Given the description of an element on the screen output the (x, y) to click on. 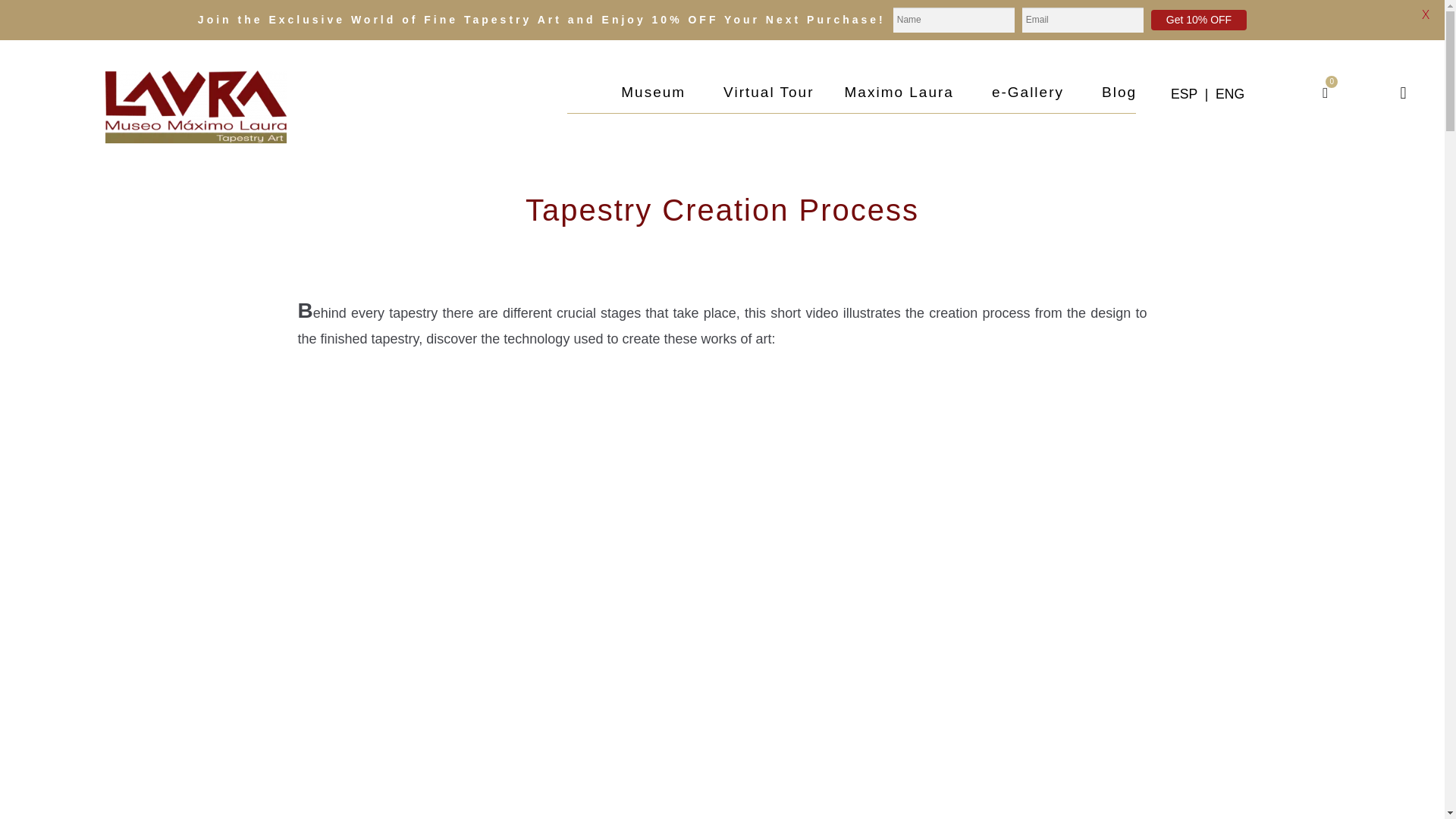
0 (1324, 92)
Virtual Tour (767, 92)
ENG (1229, 93)
Museum (656, 92)
ESP (1183, 93)
Maximo Laura (902, 92)
Blog (1118, 92)
e-Gallery (1031, 92)
